Given the description of an element on the screen output the (x, y) to click on. 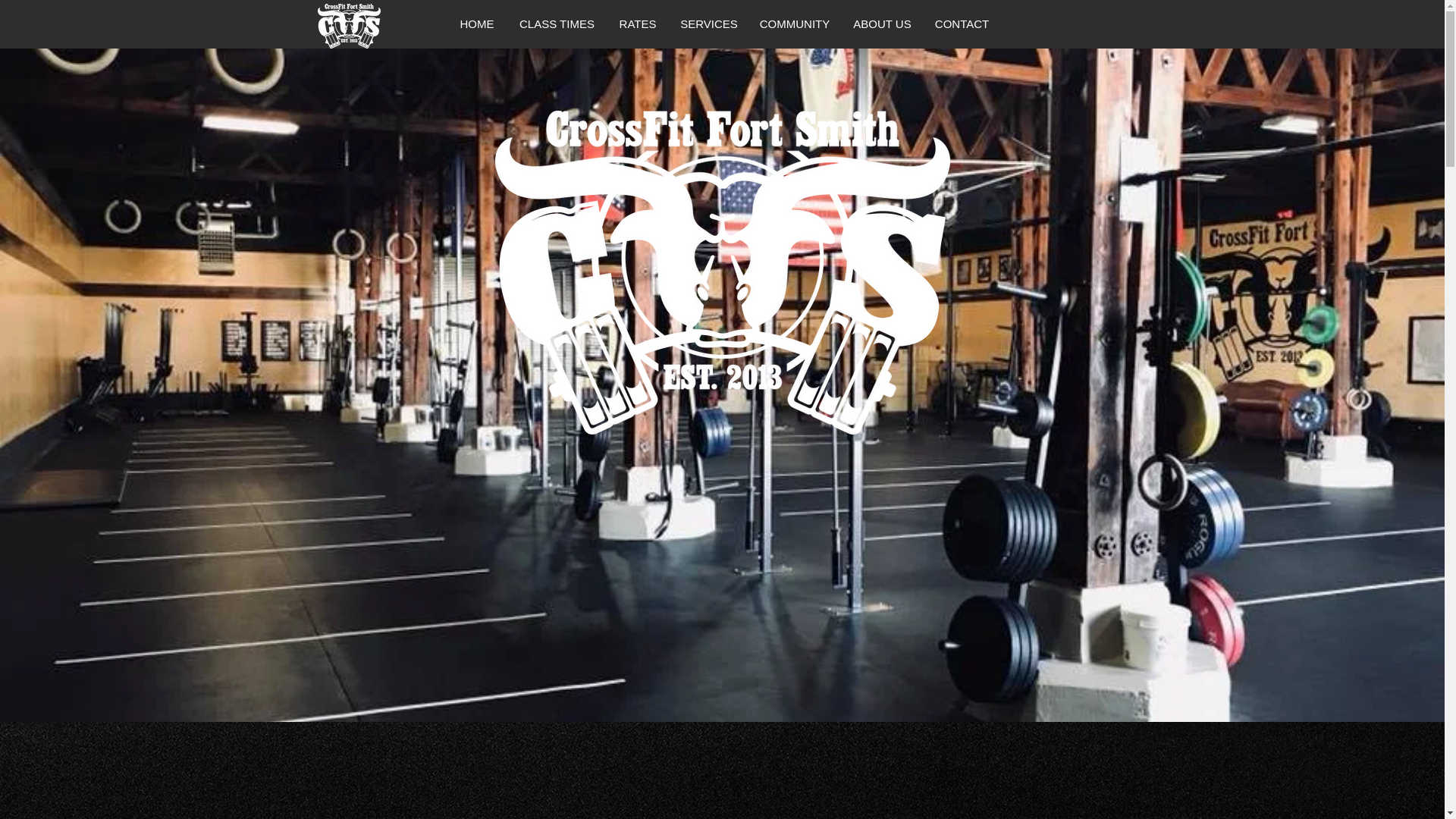
HOME (475, 24)
COMMUNITY (795, 24)
CLASS TIMES (557, 24)
SERVICES (708, 24)
RATES (638, 24)
ABOUT US (881, 24)
CONTACT (960, 24)
